Given the description of an element on the screen output the (x, y) to click on. 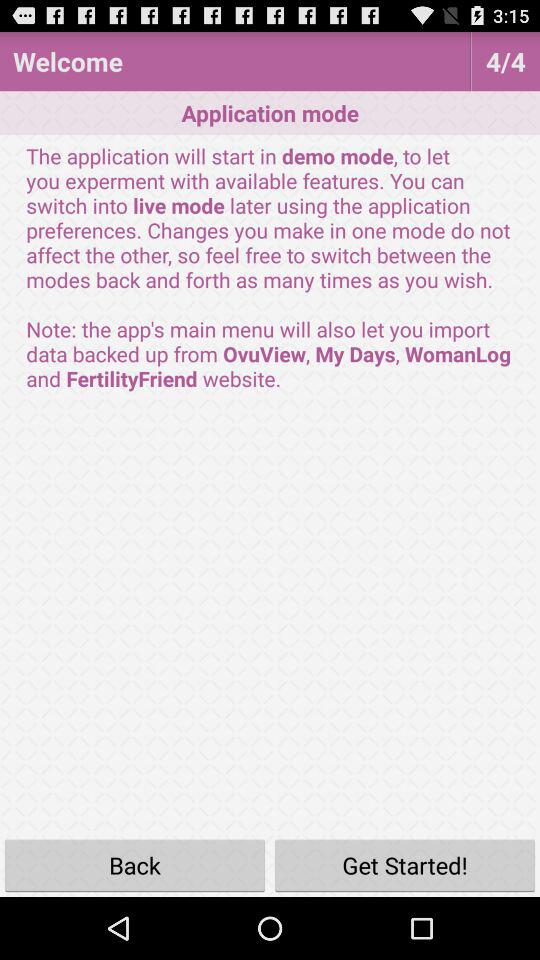
press get started! item (405, 864)
